Given the description of an element on the screen output the (x, y) to click on. 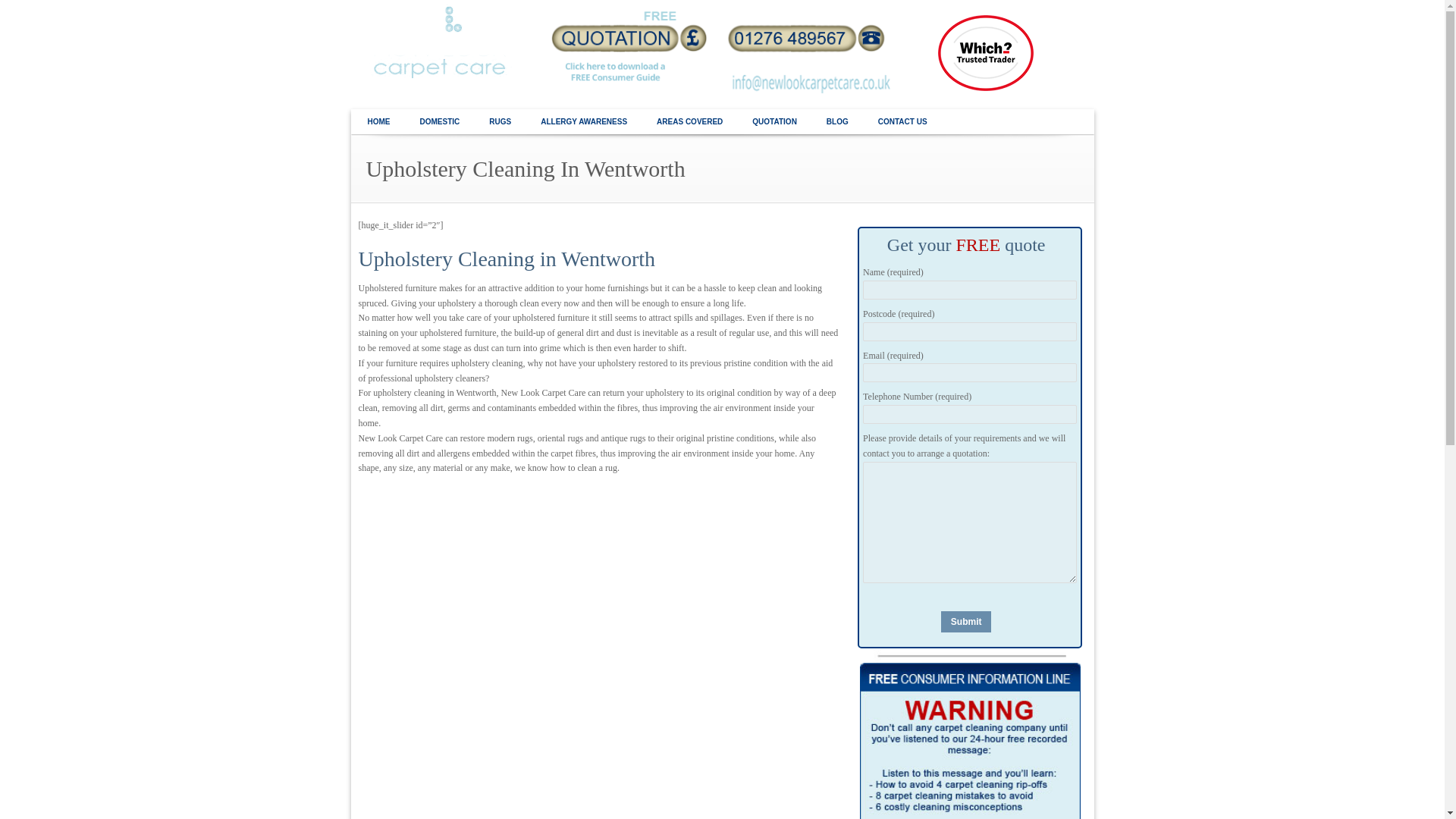
CONTACT US (902, 122)
QUOTATION (774, 122)
HOME (379, 122)
RUGS (500, 122)
ALLERGY AWARENESS (583, 122)
Submit (965, 621)
Submit (965, 621)
AREAS COVERED (689, 122)
BLOG (837, 122)
DOMESTIC (438, 122)
